Given the description of an element on the screen output the (x, y) to click on. 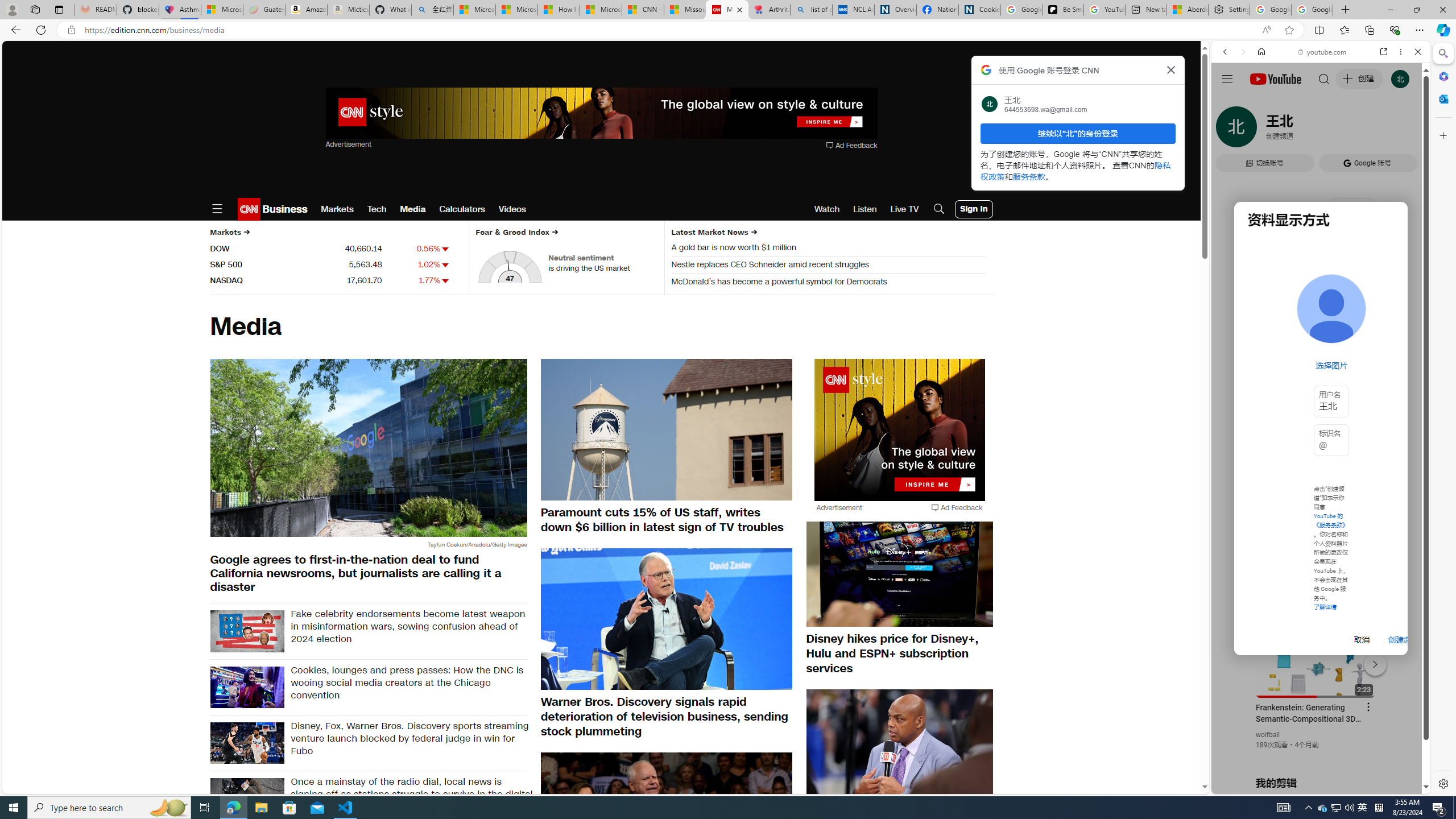
Google (1266, 331)
Asthma Inhalers: Names and Types (179, 9)
A gold bar is now worth $1 million (828, 249)
#you (1315, 659)
Music (1320, 309)
Arthritis: Ask Health Professionals (769, 9)
YouTube - YouTube (1315, 560)
